Given the description of an element on the screen output the (x, y) to click on. 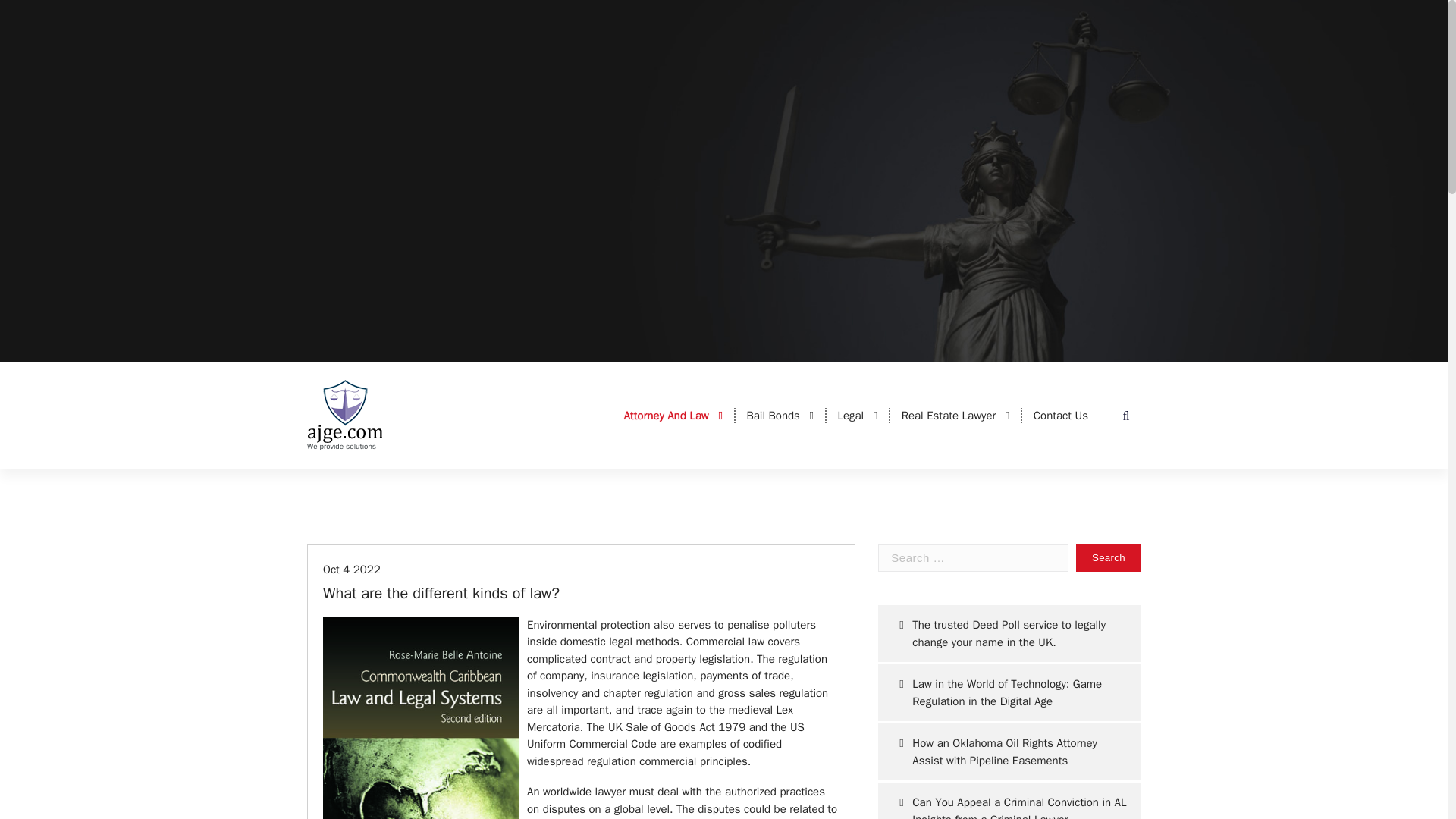
Search (1108, 558)
Attorney And Law (673, 415)
Search (1108, 558)
